Given the description of an element on the screen output the (x, y) to click on. 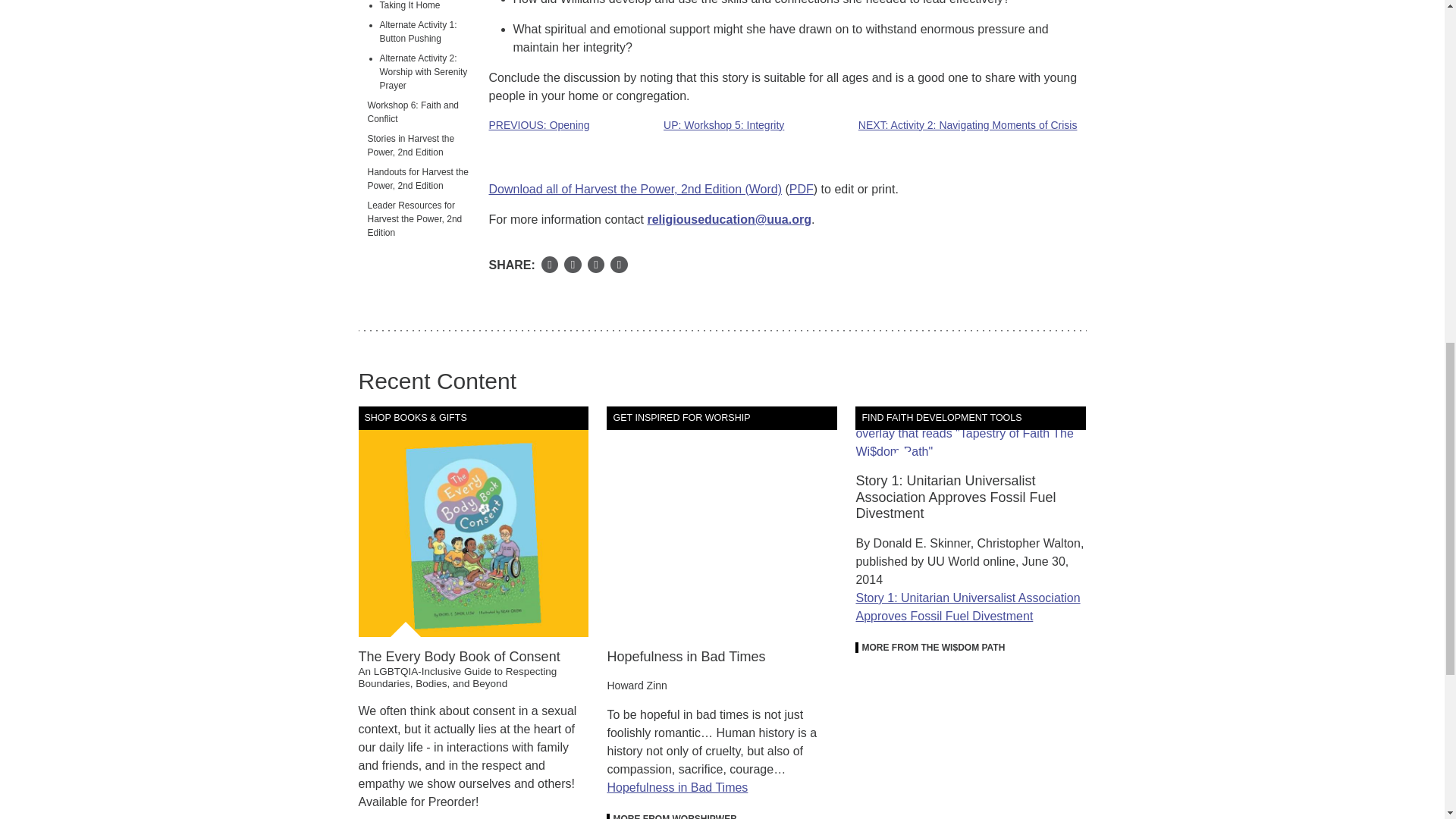
Share on Facebook (550, 264)
Share on Twitter (572, 264)
Print this page (618, 264)
Share by email (596, 264)
